Given the description of an element on the screen output the (x, y) to click on. 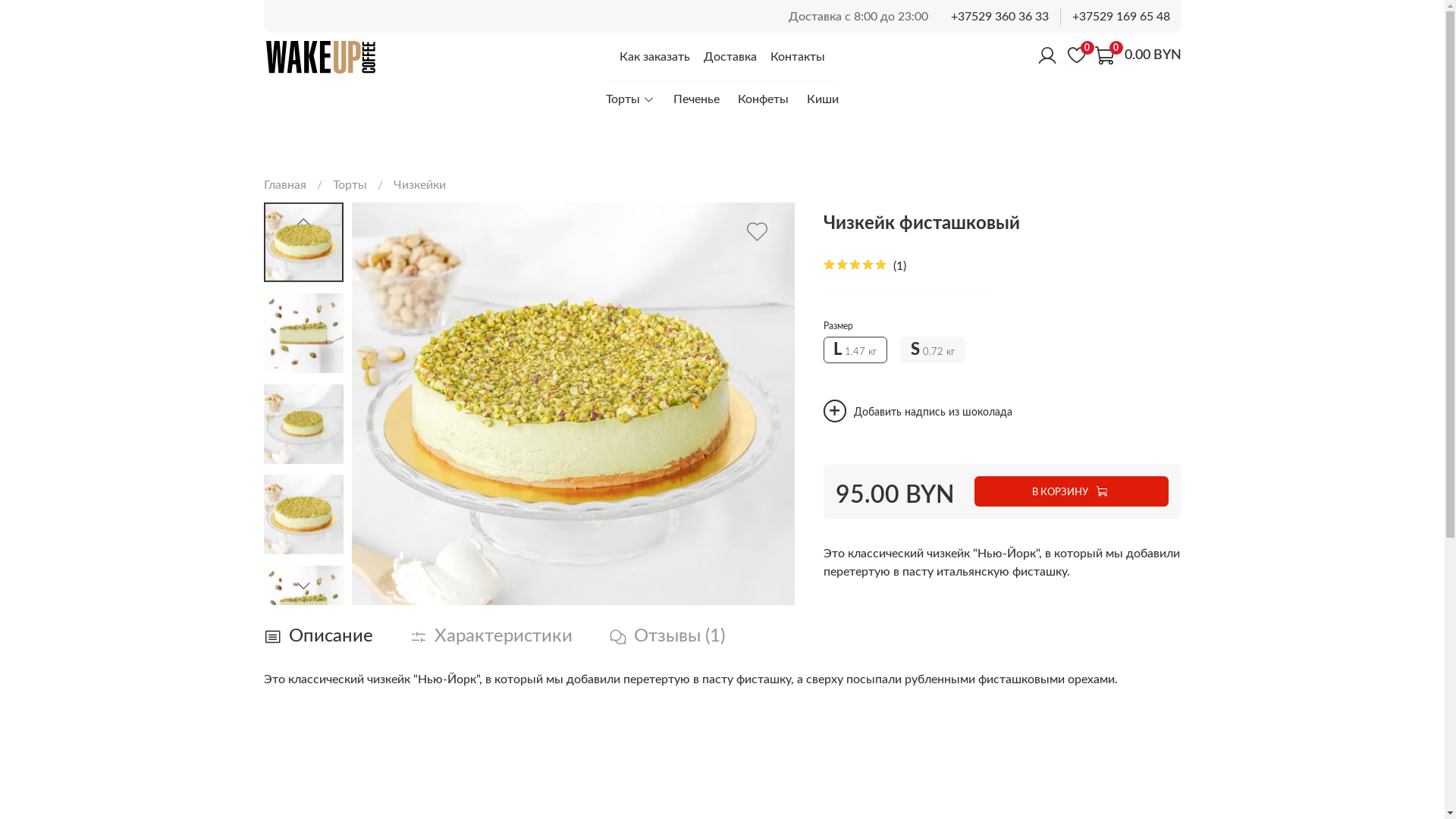
+37529 169 65 48 Element type: text (1121, 16)
0
0.00 BYN Element type: text (1136, 55)
+37529 360 36 33 Element type: text (999, 16)
on Element type: text (834, 410)
0 Element type: text (1078, 55)
